Given the description of an element on the screen output the (x, y) to click on. 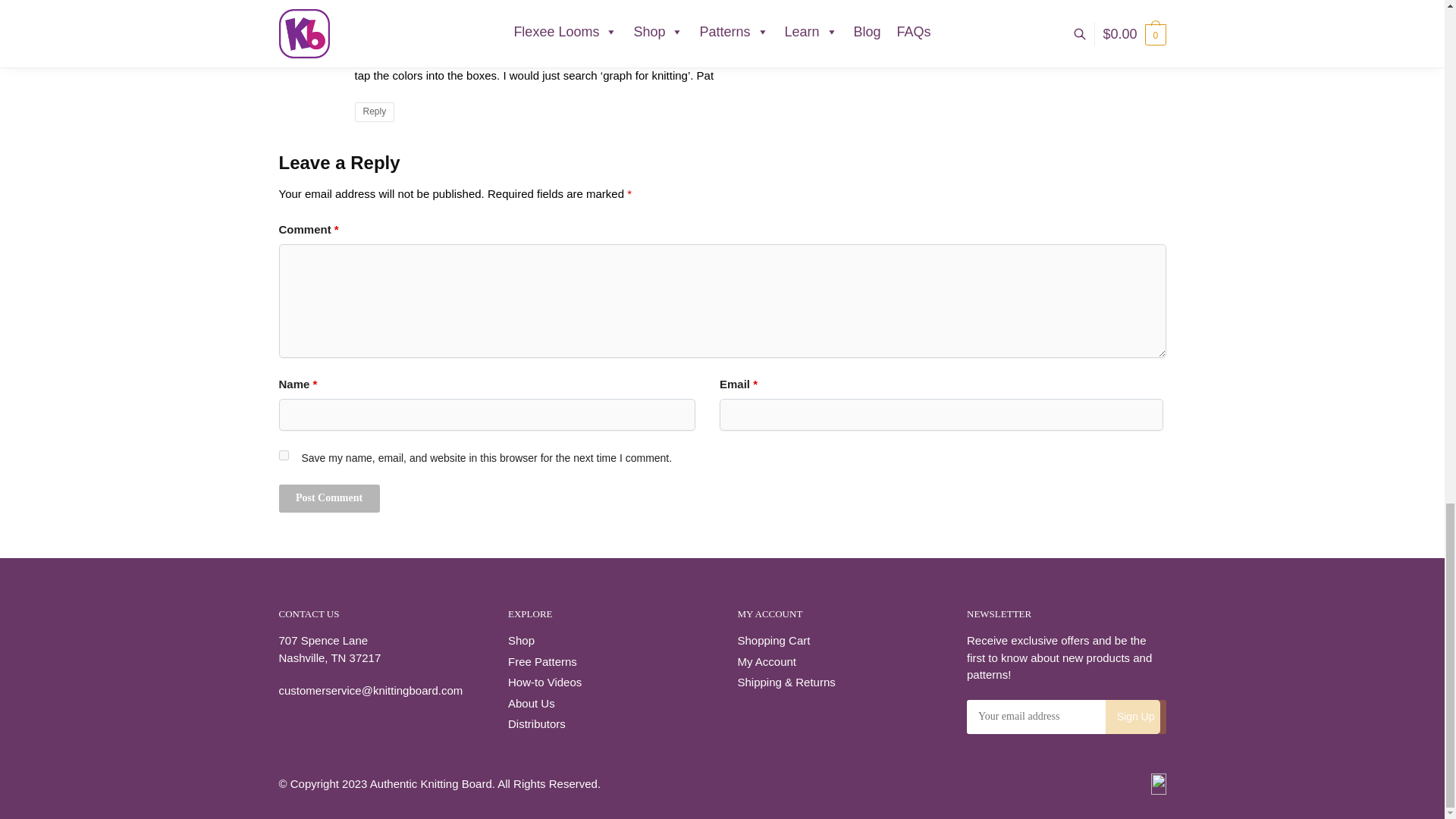
yes (283, 455)
Post Comment (329, 498)
Sign up (1135, 716)
